Given the description of an element on the screen output the (x, y) to click on. 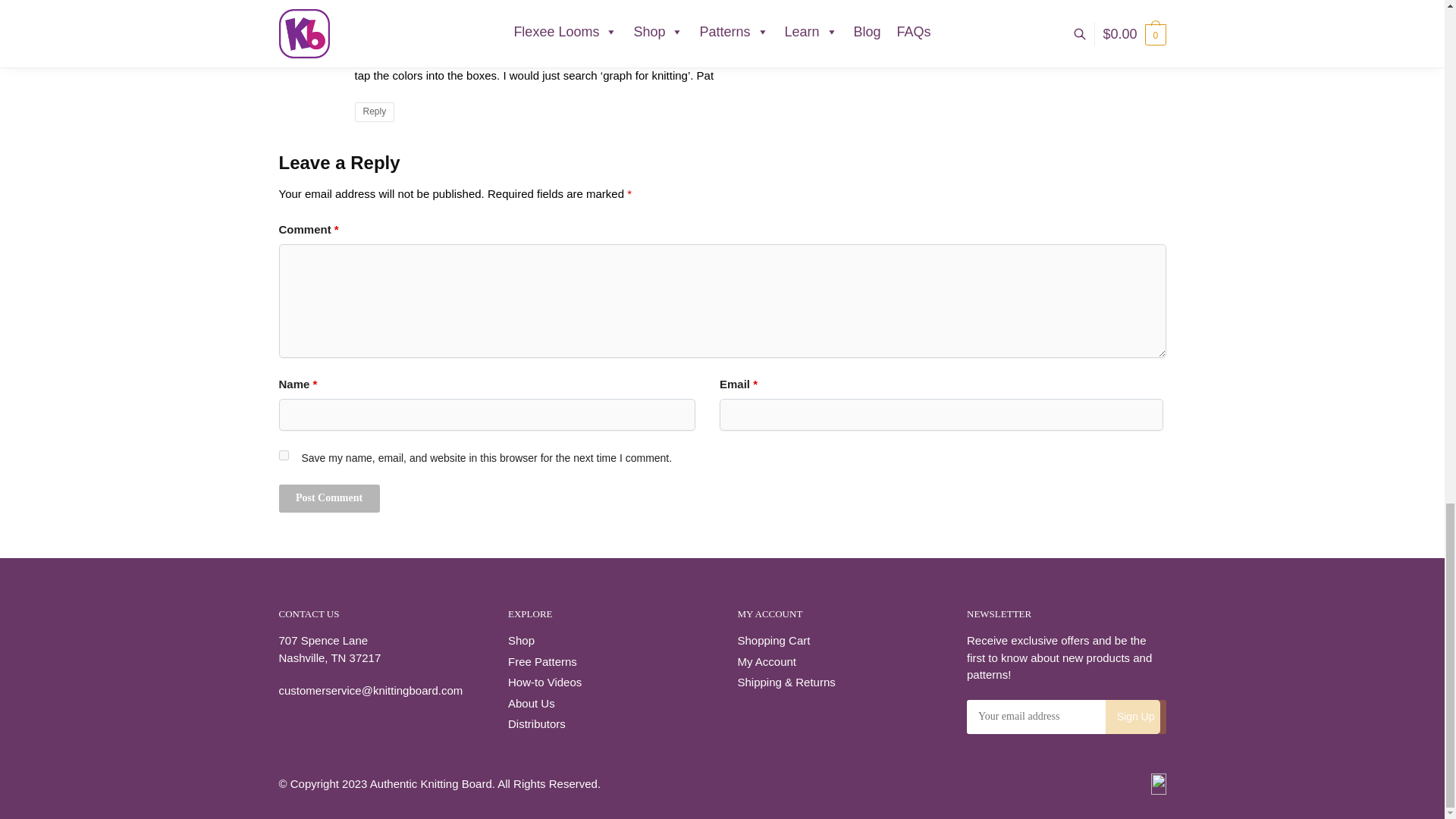
yes (283, 455)
Post Comment (329, 498)
Sign up (1135, 716)
